Given the description of an element on the screen output the (x, y) to click on. 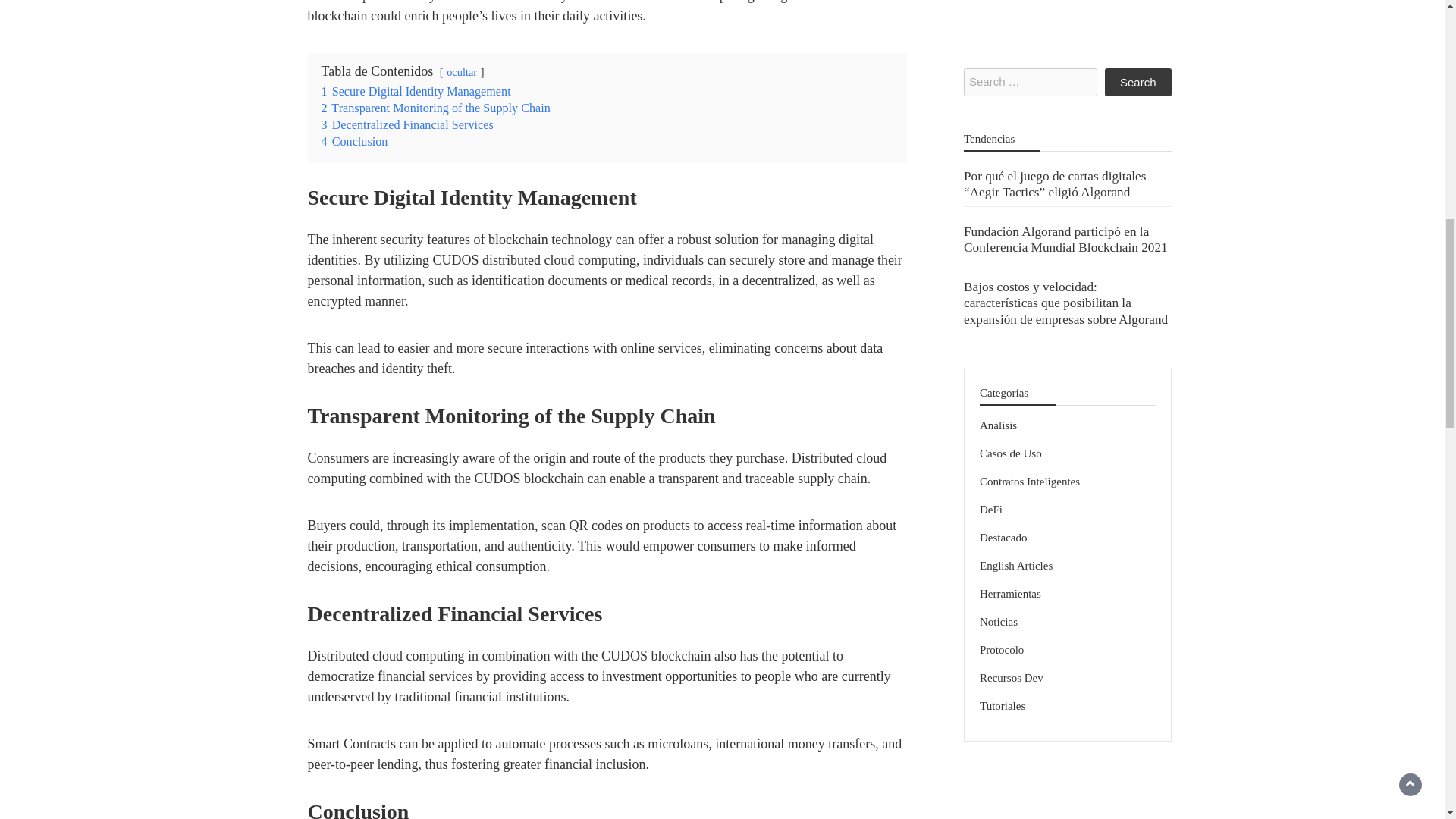
1 Secure Digital Identity Management (416, 91)
2 Transparent Monitoring of the Supply Chain (435, 108)
3 Decentralized Financial Services (407, 124)
4 Conclusion (354, 141)
ocultar (461, 71)
